Given the description of an element on the screen output the (x, y) to click on. 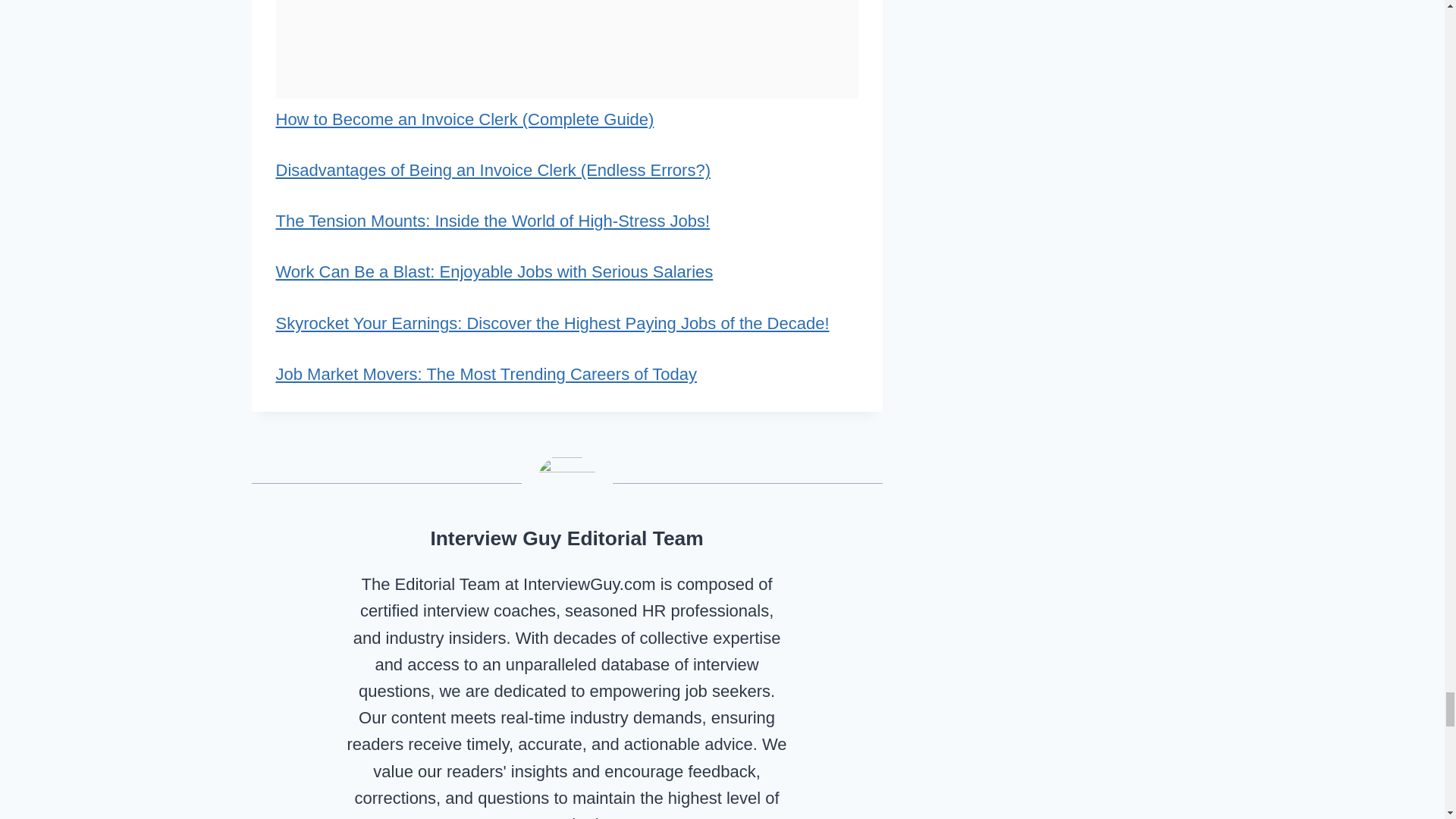
Posts by Interview Guy Editorial Team (566, 538)
